Given the description of an element on the screen output the (x, y) to click on. 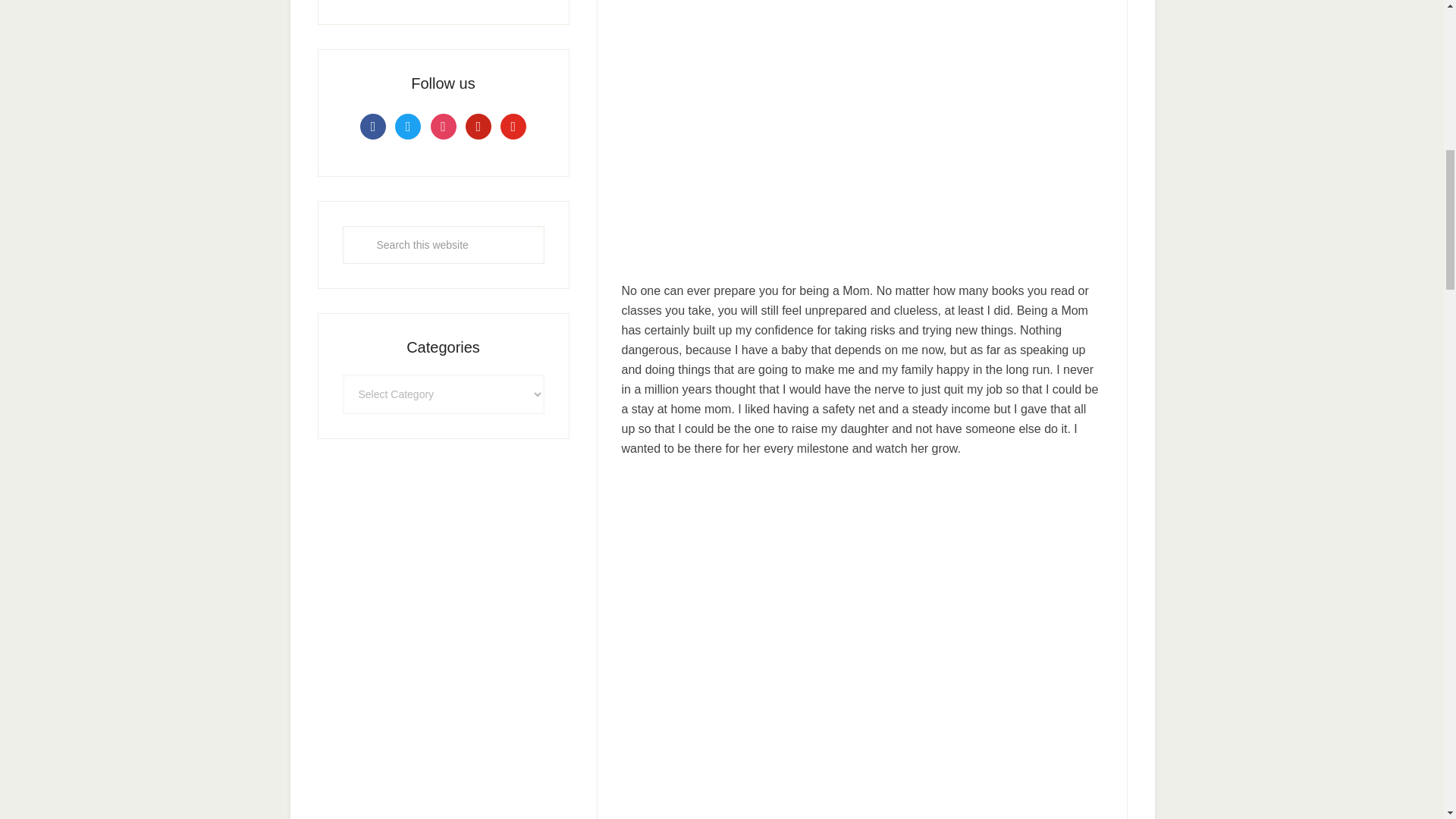
Default Label (478, 124)
Twitter (407, 124)
Default Label (512, 124)
Instagram (443, 124)
Facebook (372, 124)
